Given the description of an element on the screen output the (x, y) to click on. 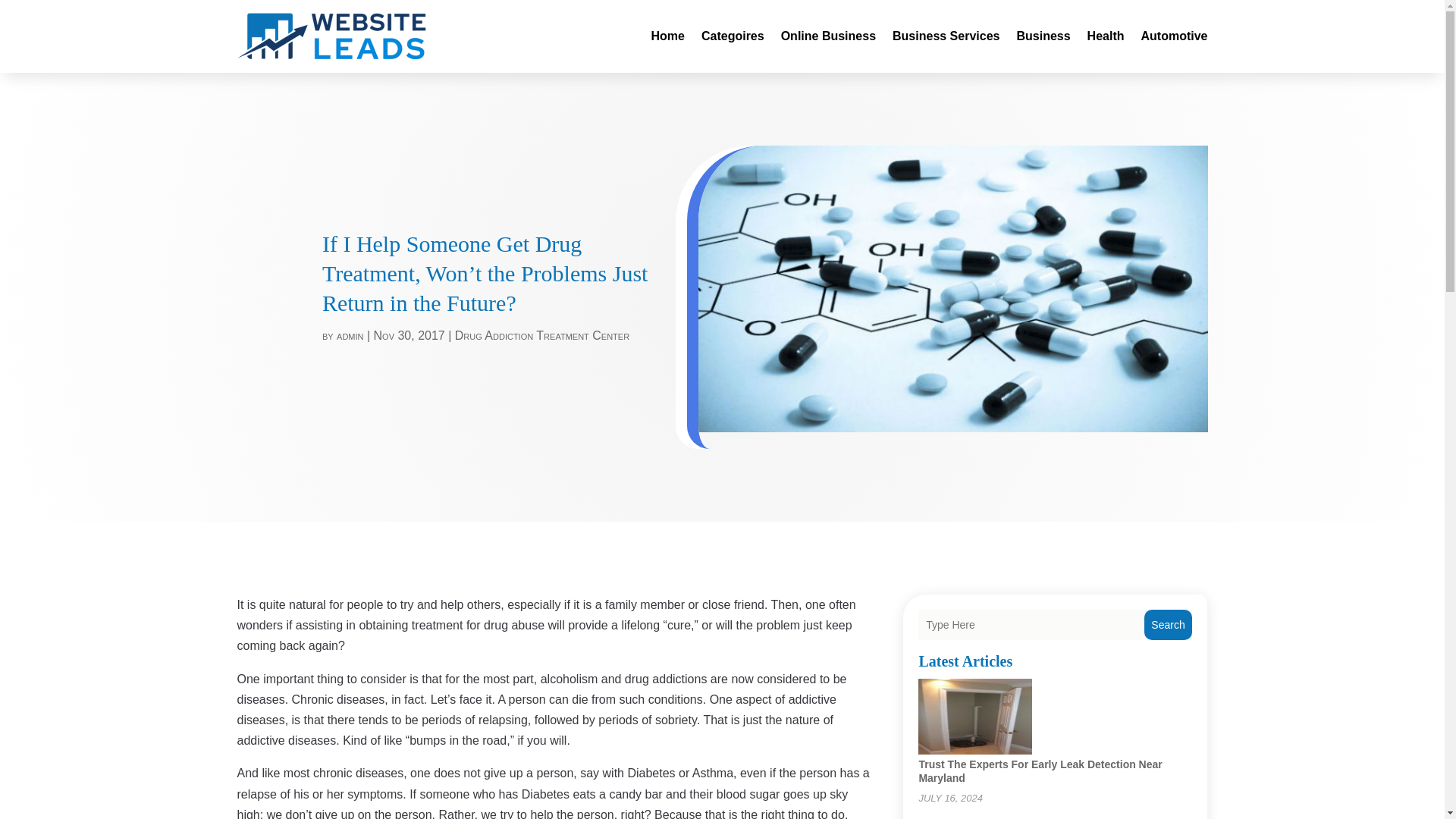
admin (349, 335)
Health (1105, 36)
Search (1168, 624)
Business (1043, 36)
Trust The Experts For Early Leak Detection Near Maryland (1039, 770)
Categoires (732, 36)
Home (667, 36)
Online Business (828, 36)
Automotive (1173, 36)
Drug Addiction Treatment Center (541, 335)
Business Services (945, 36)
Posts by admin (349, 335)
